Given the description of an element on the screen output the (x, y) to click on. 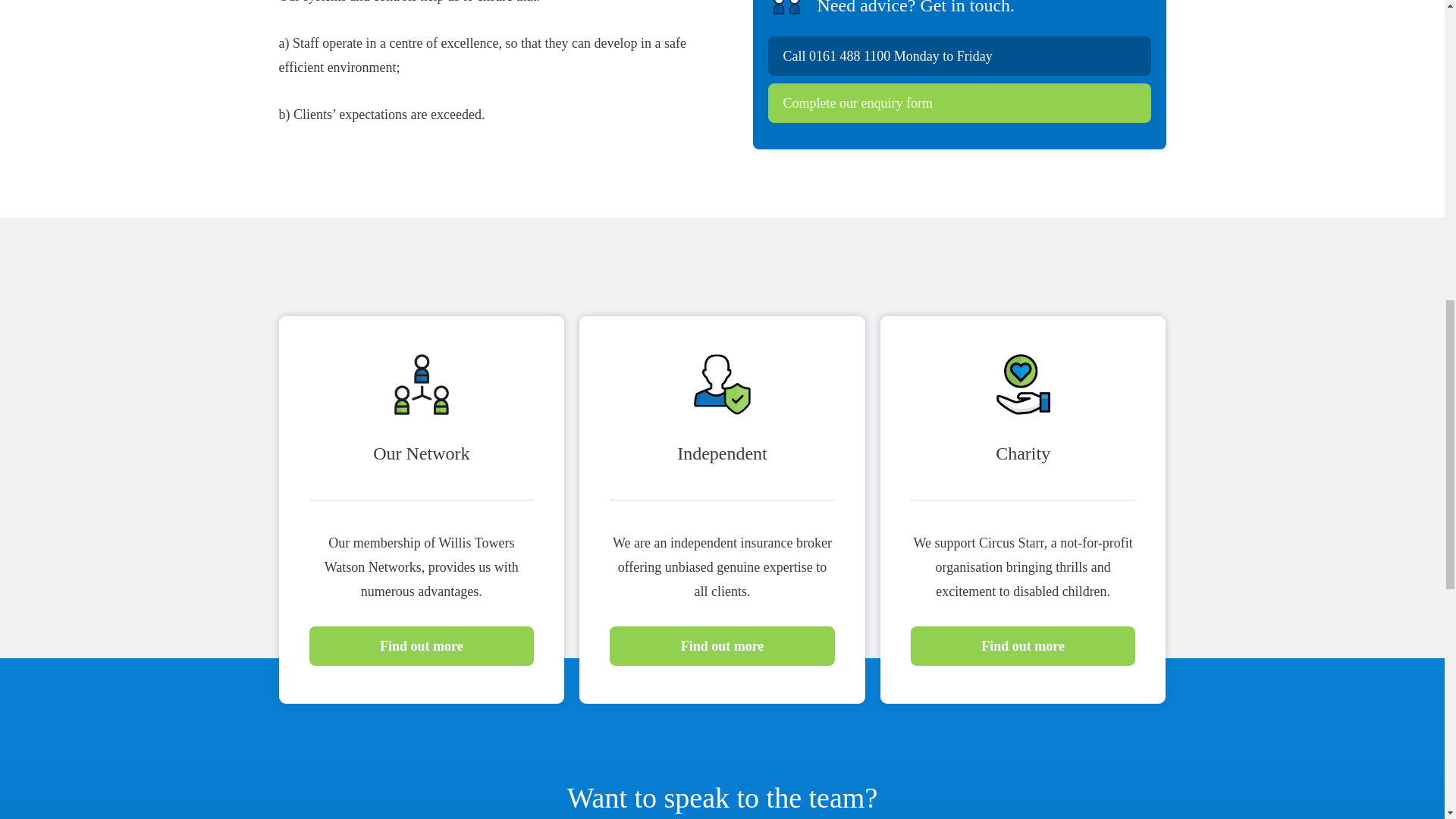
network-icon (421, 383)
Find out more (421, 645)
Find out more (722, 645)
Find out more (1023, 645)
indepent-icon (722, 383)
